Given the description of an element on the screen output the (x, y) to click on. 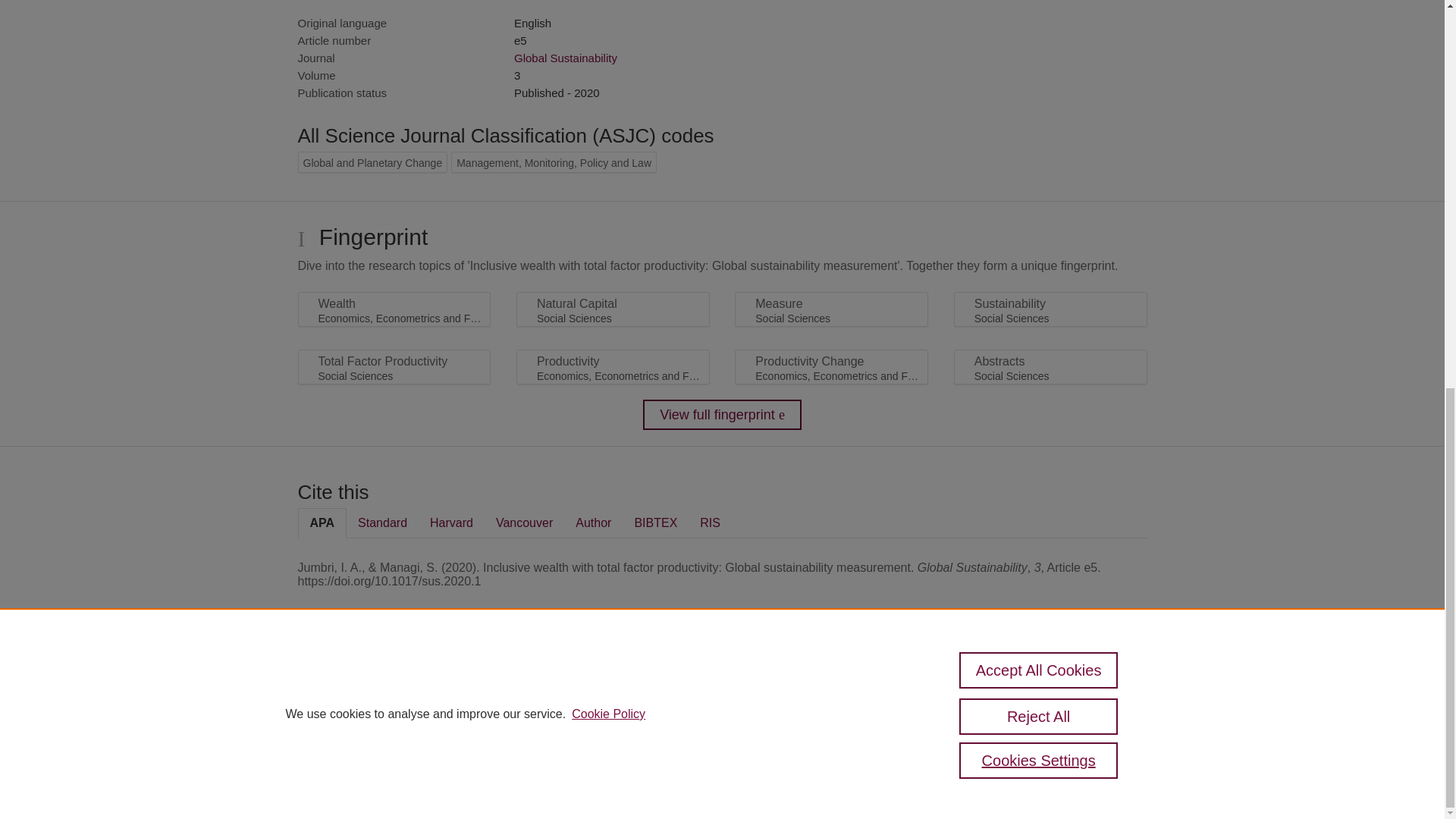
Global Sustainability (565, 57)
View full fingerprint (722, 414)
Scopus (394, 686)
Pure (362, 686)
